Given the description of an element on the screen output the (x, y) to click on. 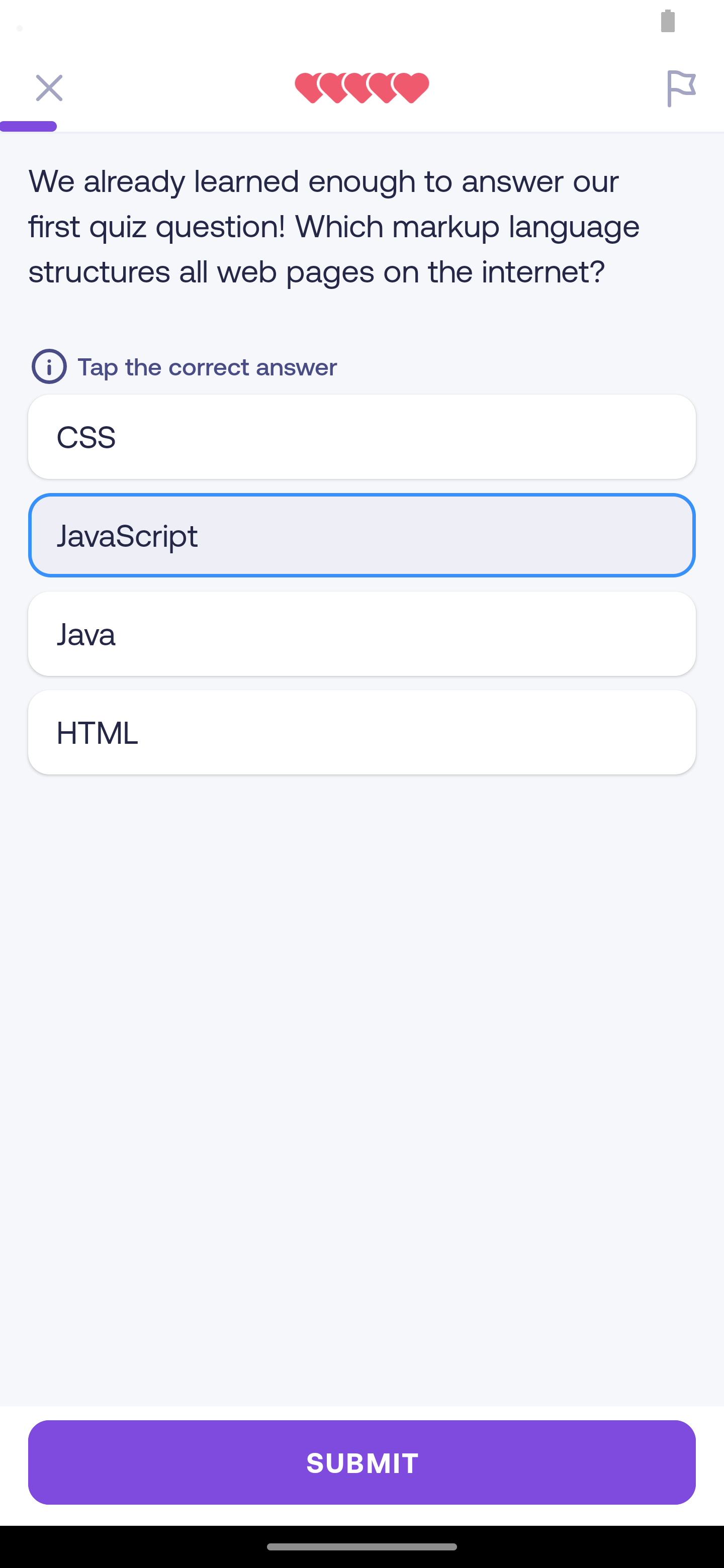
CSS (361, 436)
JavaScript (361, 534)
Java (361, 633)
HTML (361, 731)
SUBMIT (361, 1462)
